Given the description of an element on the screen output the (x, y) to click on. 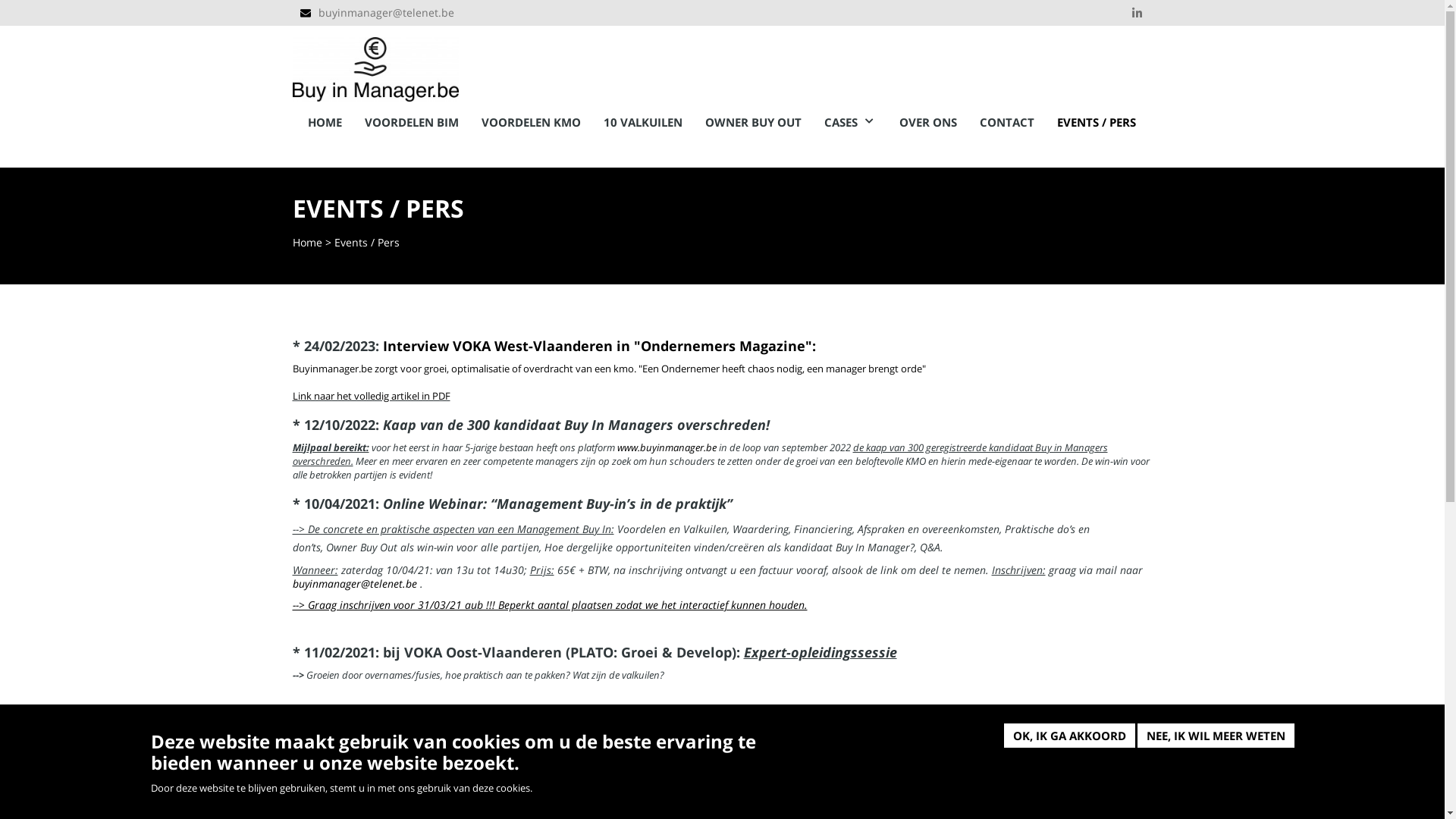
Interview VOKA West-Vlaanderen in "Ondernemers Magazine": Element type: text (598, 345)
buyinmanager@telenet.be Element type: text (354, 583)
OVER ONS Element type: text (927, 122)
linkedin Element type: text (1136, 12)
CONTACT Element type: text (1006, 122)
OWNER BUY OUT Element type: text (753, 122)
VOORDELEN BIM Element type: text (410, 122)
10 VALKUILEN Element type: text (643, 122)
OK, IK GA AKKOORD Element type: text (1069, 735)
VOORDELEN KMO Element type: text (530, 122)
www.buyinmanager.be Element type: text (666, 446)
HOME Element type: text (324, 122)
Home Element type: text (307, 242)
EVENTS / PERS Element type: text (1096, 122)
Home Element type: hover (375, 63)
Events / Pers Element type: text (365, 242)
NEE, IK WIL MEER WETEN Element type: text (1215, 735)
CASES Element type: text (849, 122)
Link naar het volledig artikel in PDF Element type: text (371, 395)
Management Buy-In, een praktische benadering Element type: text (909, 803)
buyinmanager@telenet.be Element type: text (386, 12)
